Given the description of an element on the screen output the (x, y) to click on. 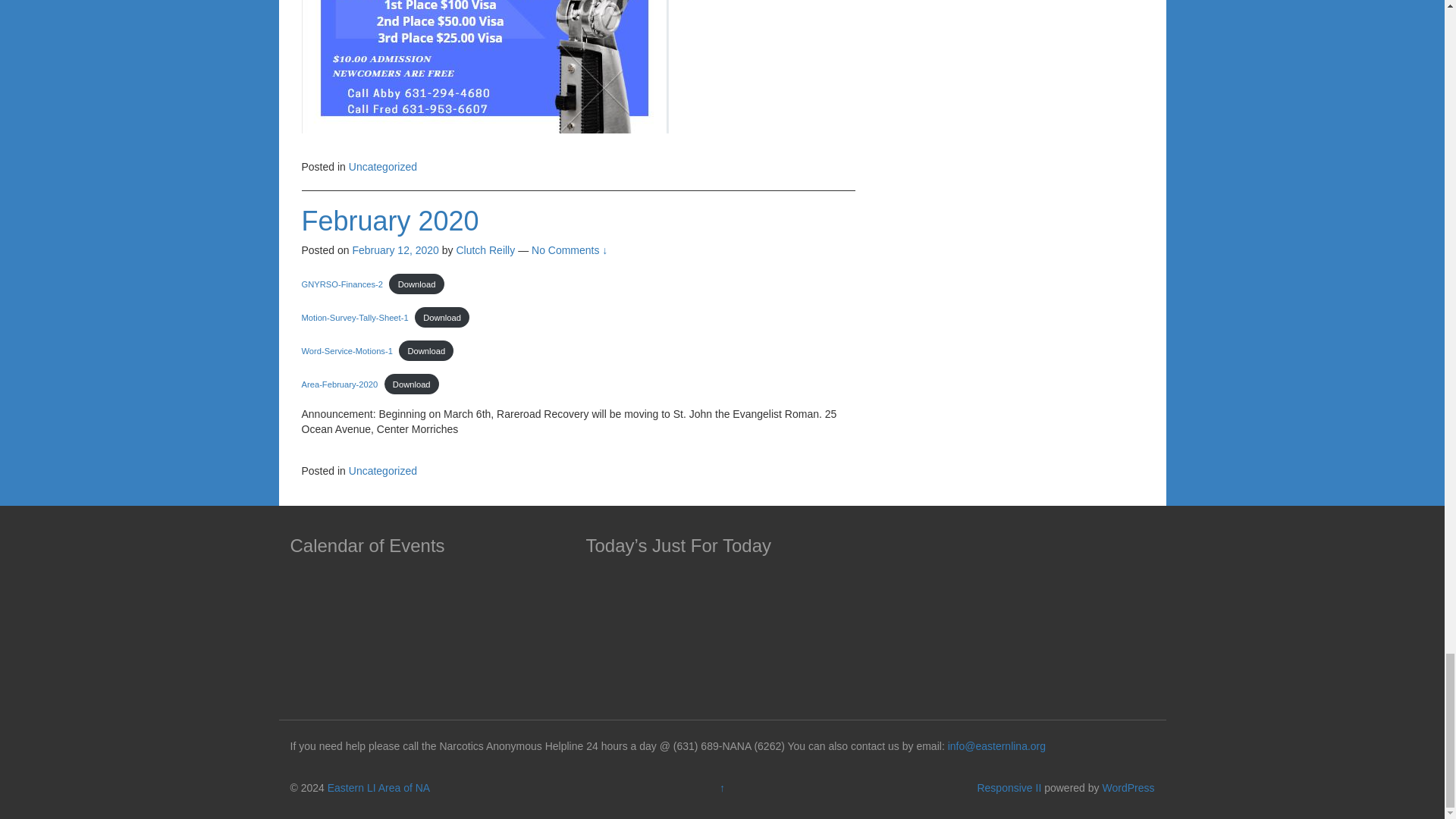
Eastern LI Area of NA (378, 787)
View all posts by Clutch Reilly (485, 250)
4:07 pm (395, 250)
scroll to top (722, 787)
